Given the description of an element on the screen output the (x, y) to click on. 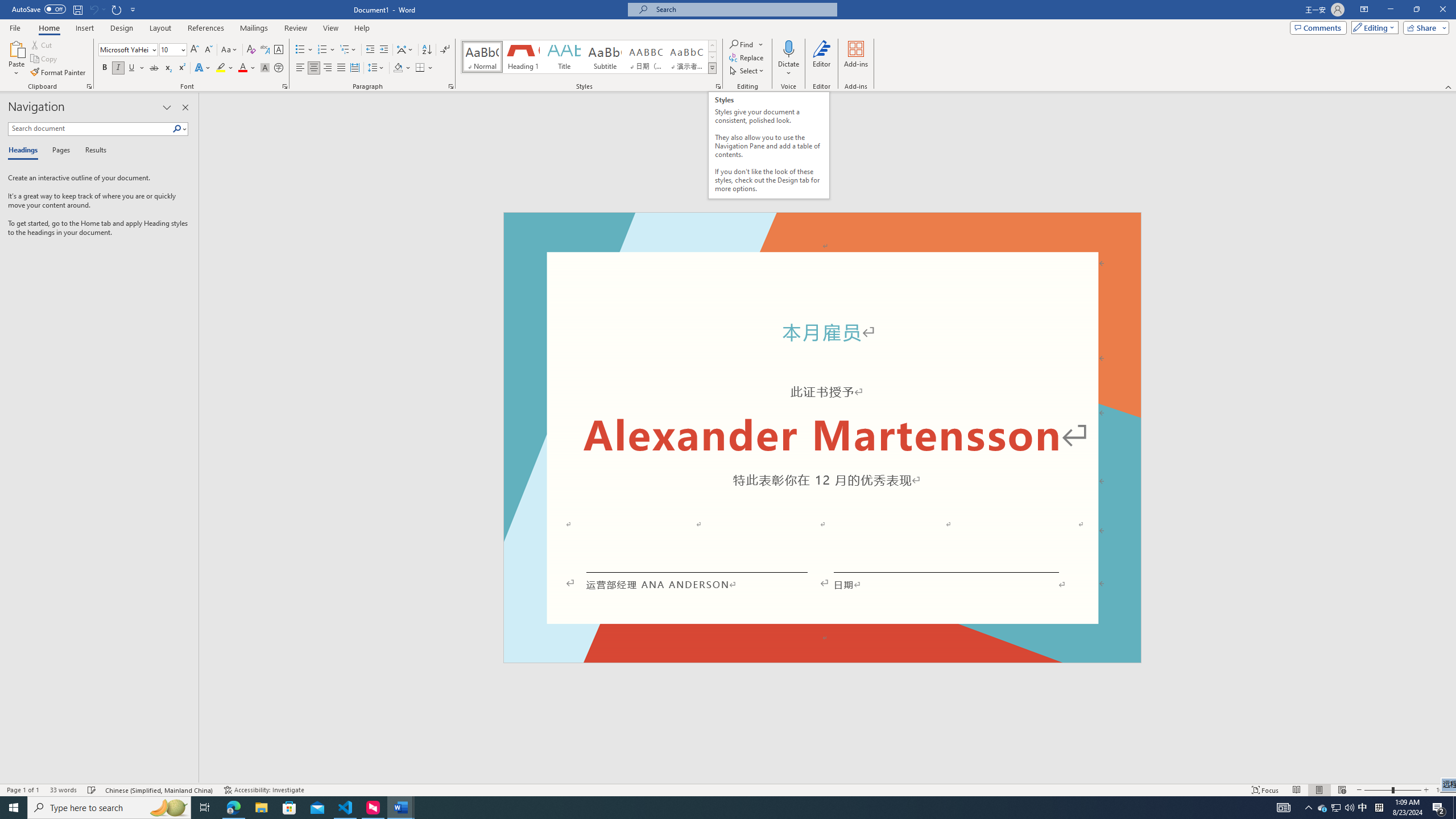
Can't Undo (92, 9)
Page 1 content (822, 445)
Align Left (300, 67)
Page Number Page 1 of 1 (22, 790)
Align Right (327, 67)
